Given the description of an element on the screen output the (x, y) to click on. 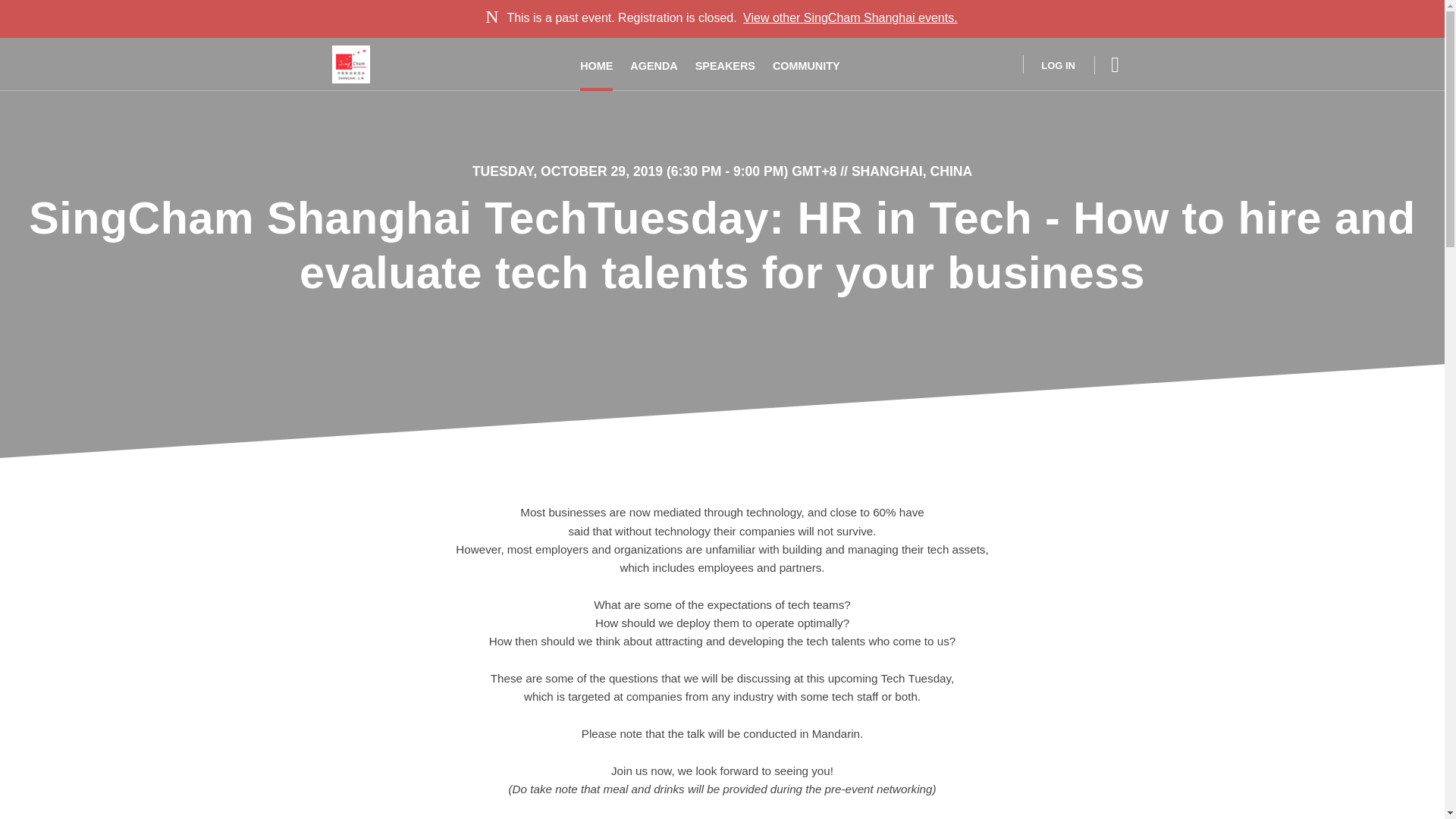
LOG IN (1048, 63)
SPEAKERS (725, 63)
Sign in (1048, 63)
COMMUNITY (806, 63)
View other SingCham Shanghai events. (850, 17)
